Given the description of an element on the screen output the (x, y) to click on. 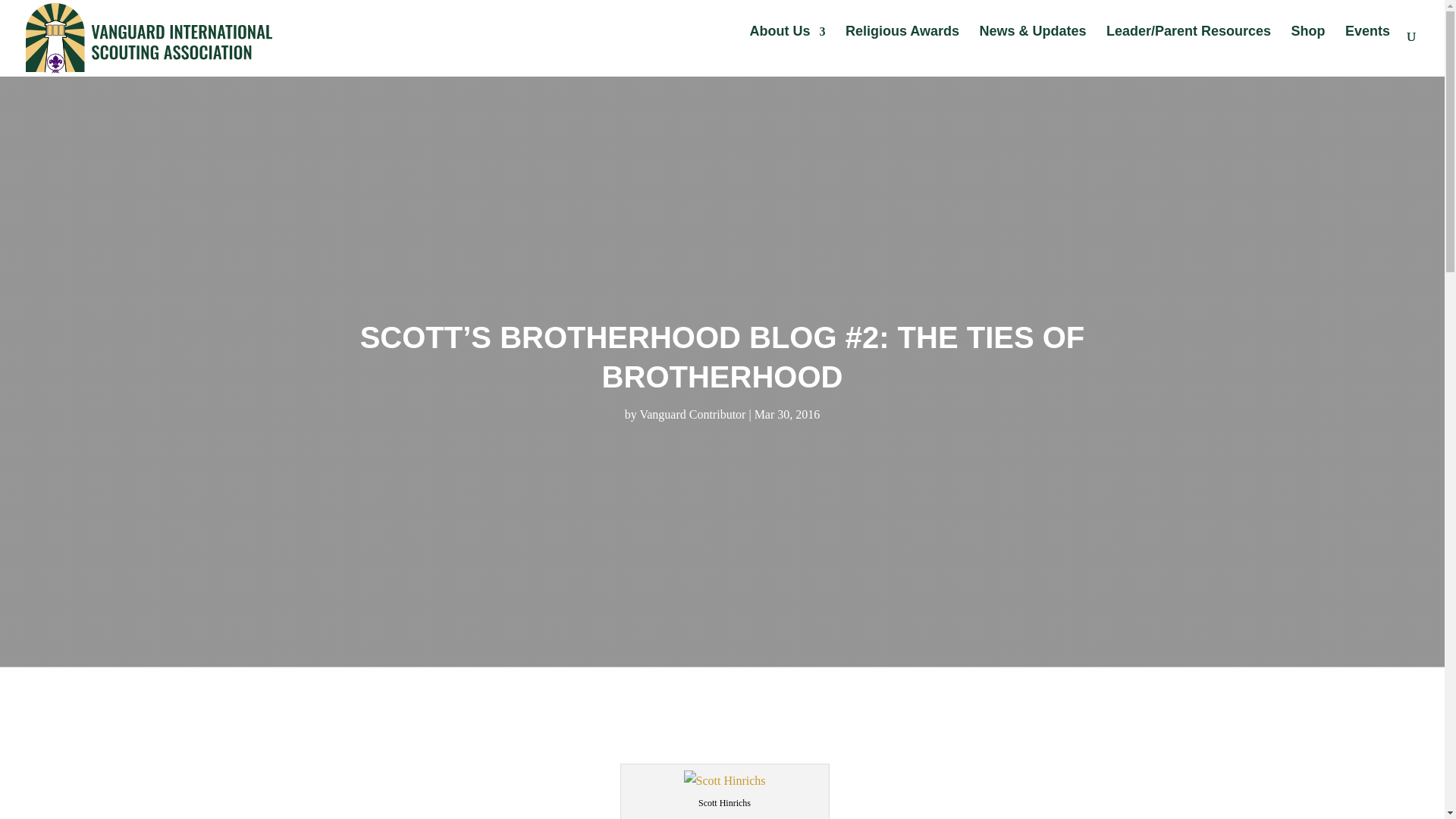
Religious Awards (902, 46)
Vanguard Contributor (692, 413)
Posts by Vanguard Contributor (692, 413)
Events (1367, 46)
About Us (787, 46)
